Given the description of an element on the screen output the (x, y) to click on. 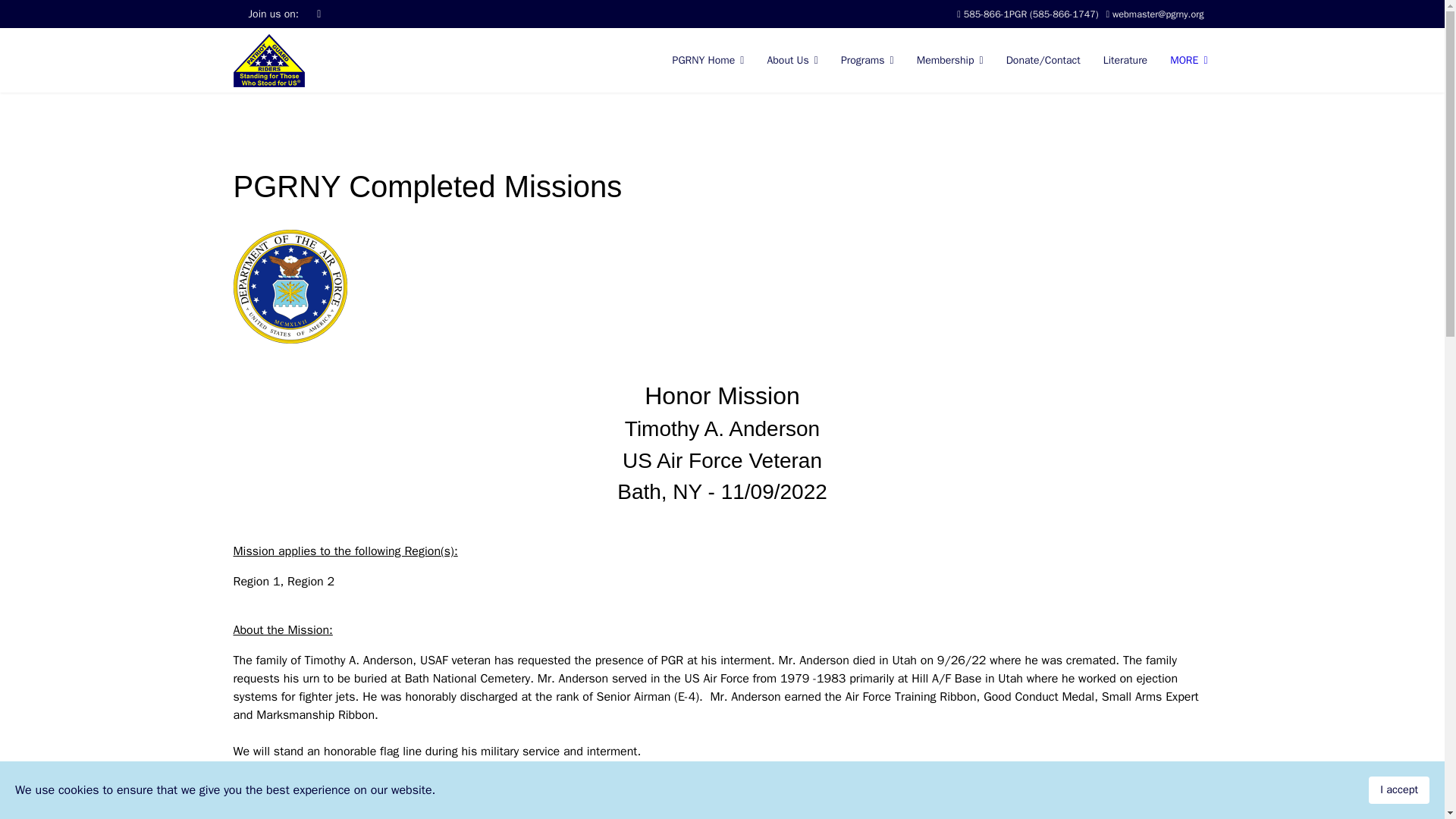
Programs (867, 59)
Membership (949, 59)
PGRNY Home (708, 59)
About Us (792, 59)
Literature (1125, 59)
